Given the description of an element on the screen output the (x, y) to click on. 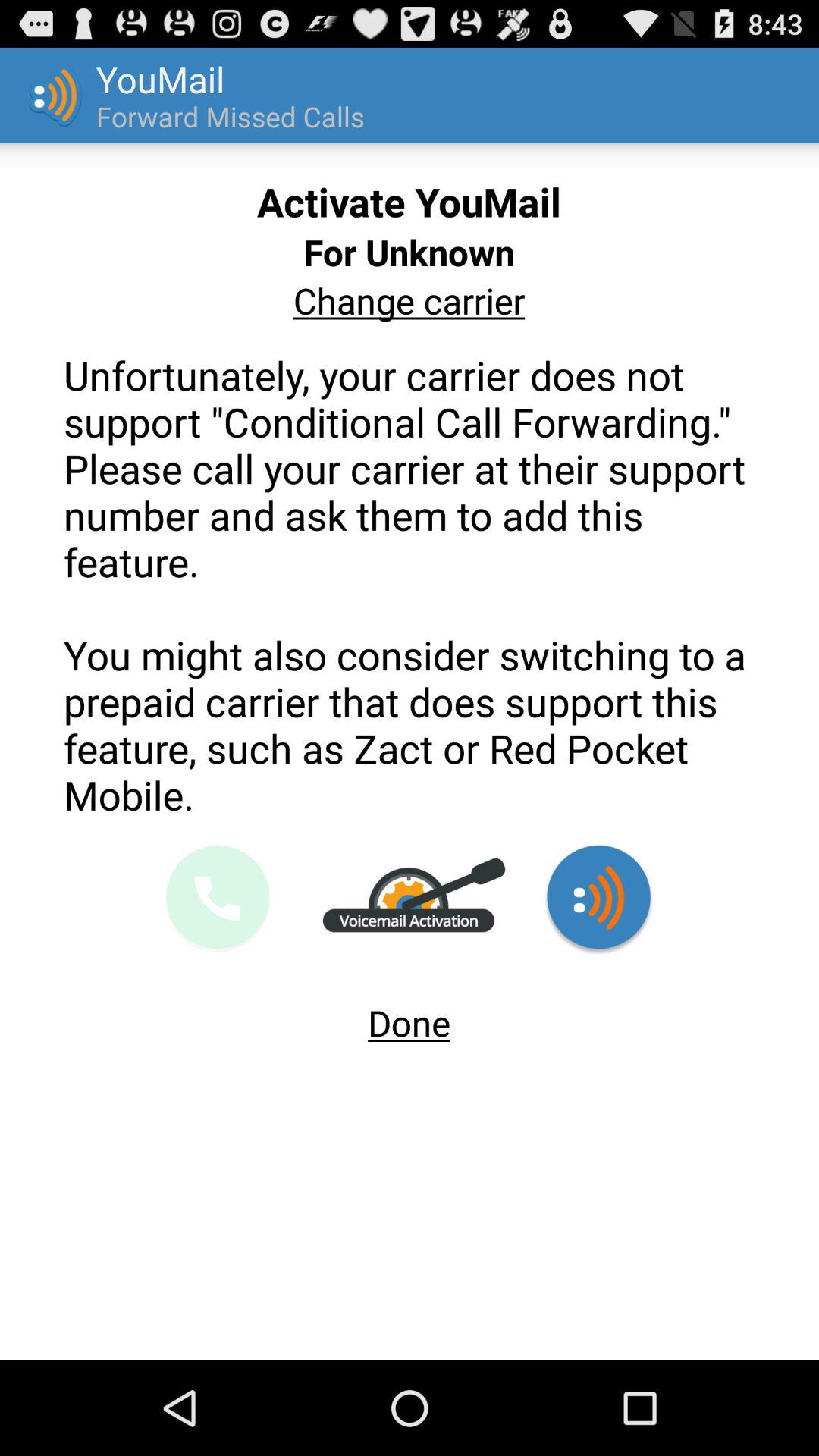
press the done app (408, 1016)
